Given the description of an element on the screen output the (x, y) to click on. 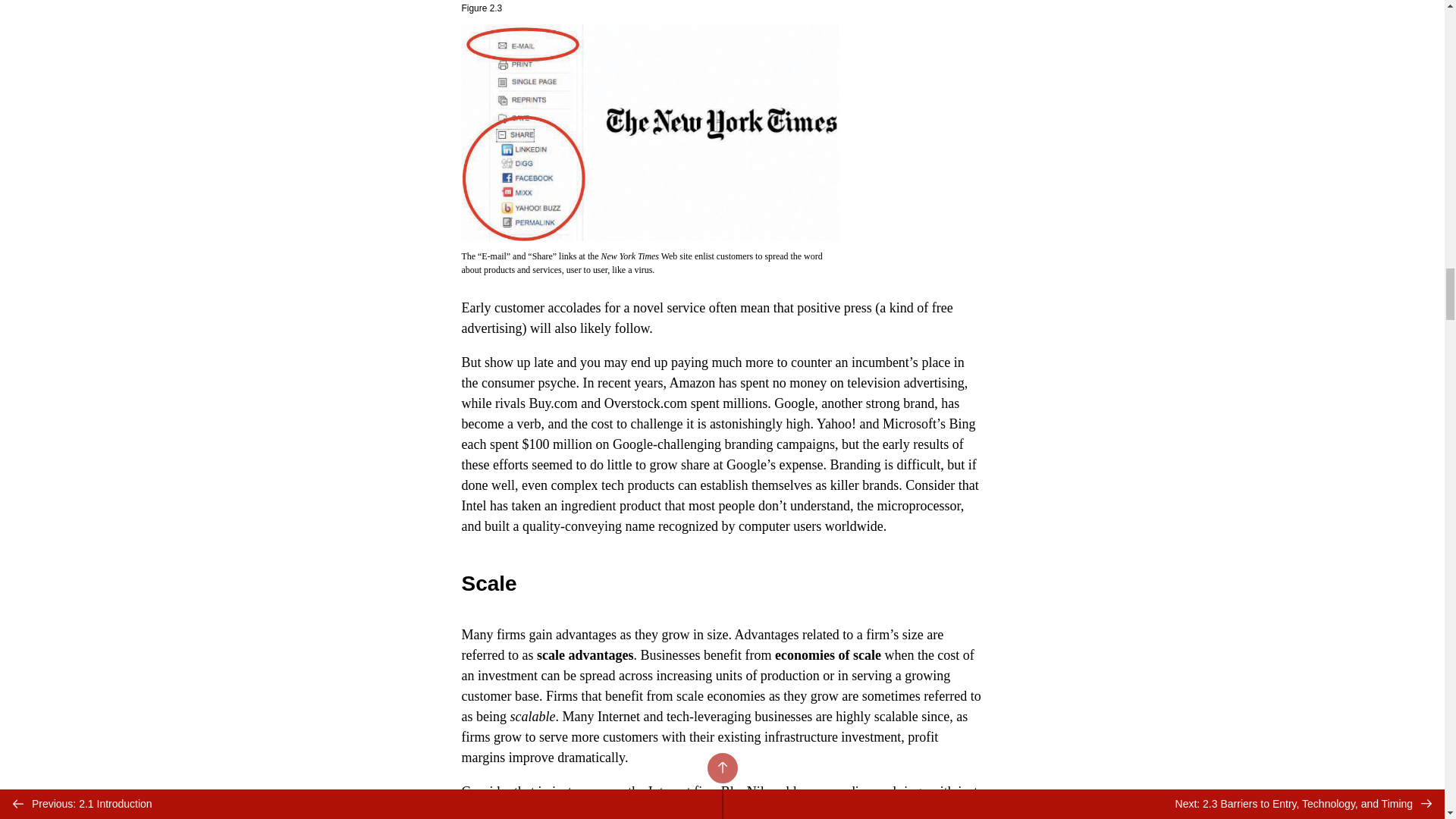
scale advantages (585, 654)
economies of scale (827, 654)
